Given the description of an element on the screen output the (x, y) to click on. 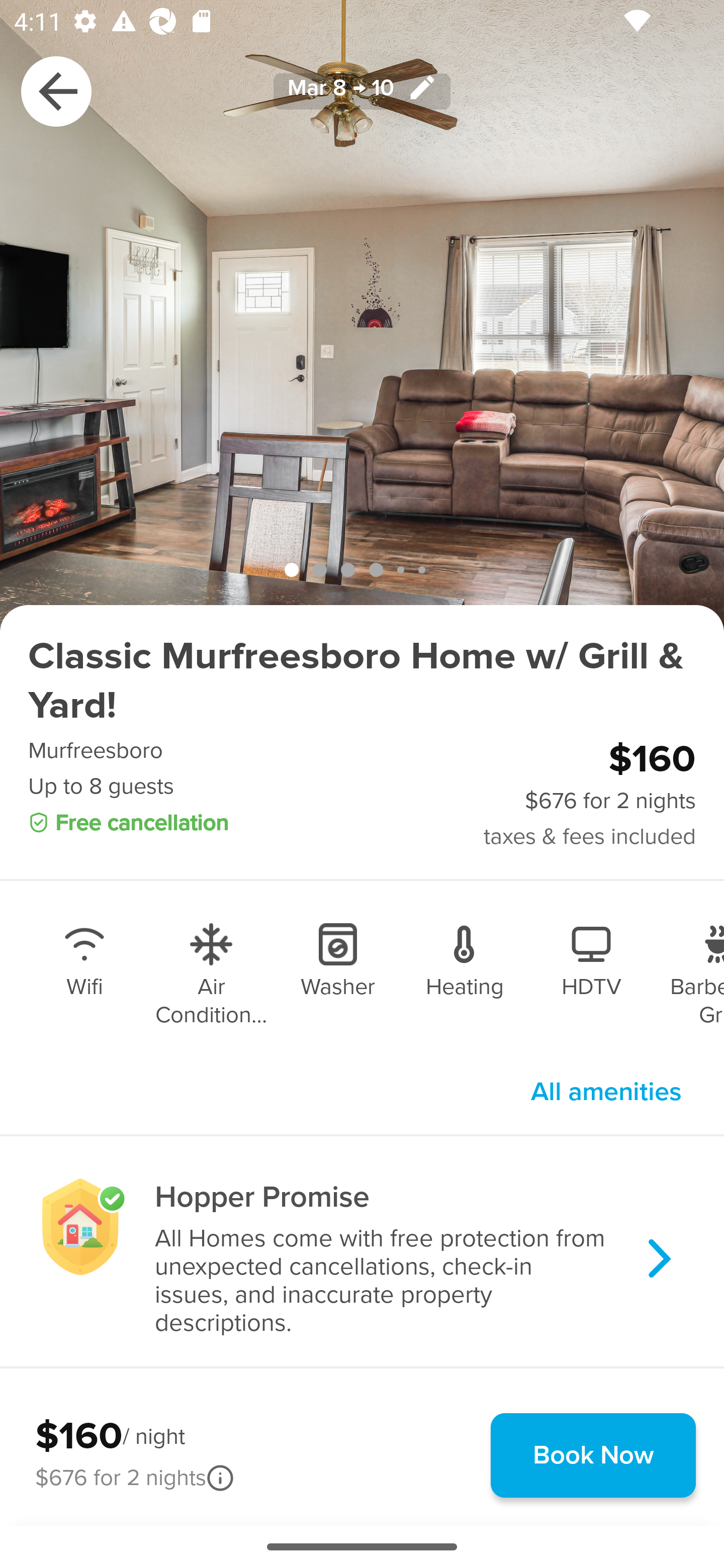
Mar 8 → 10 (361, 90)
Classic Murfreesboro Home w/ Grill & Yard! (361, 681)
All amenities (606, 1091)
Book Now (592, 1454)
